Given the description of an element on the screen output the (x, y) to click on. 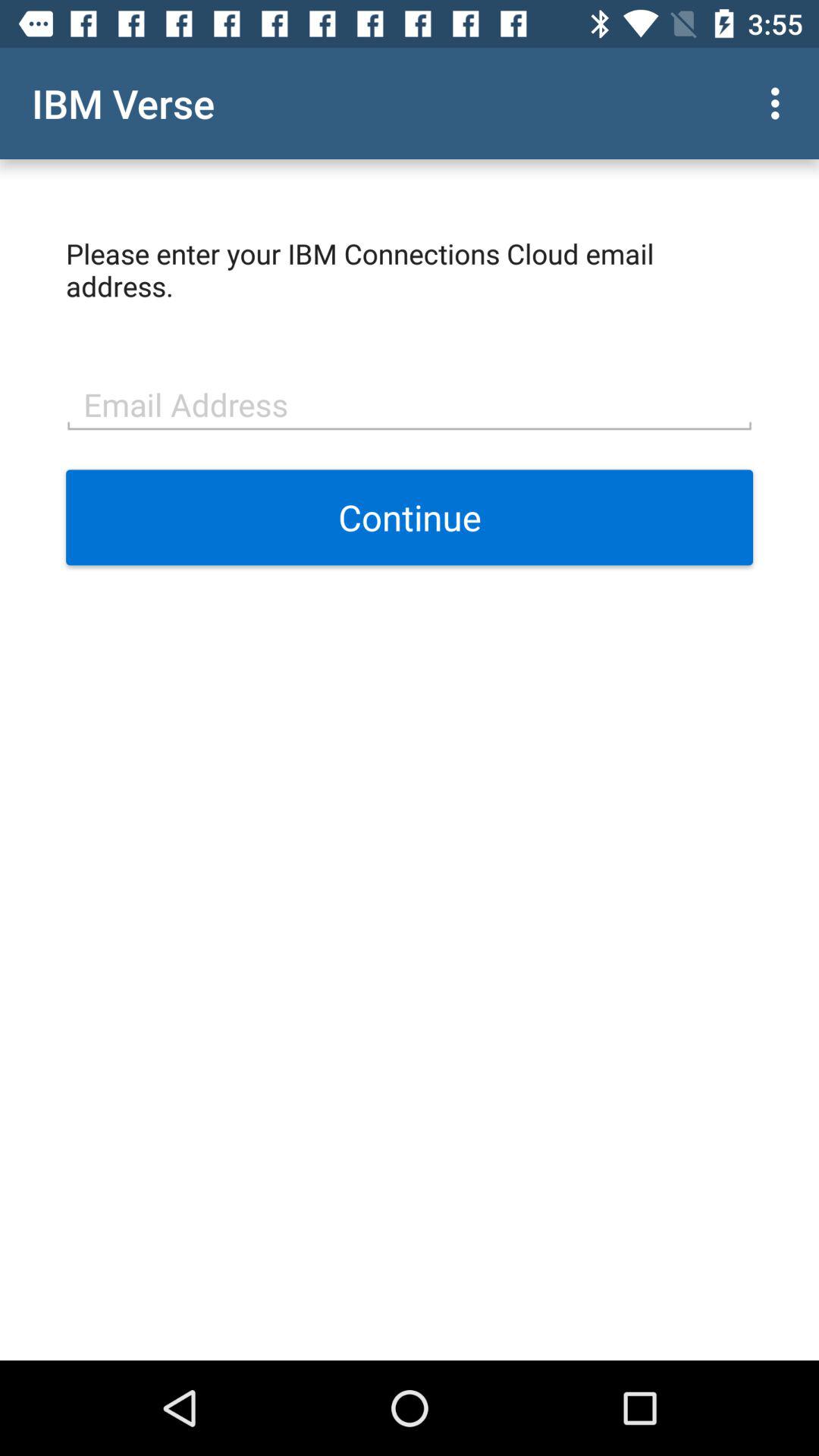
open the icon above continue icon (409, 402)
